Given the description of an element on the screen output the (x, y) to click on. 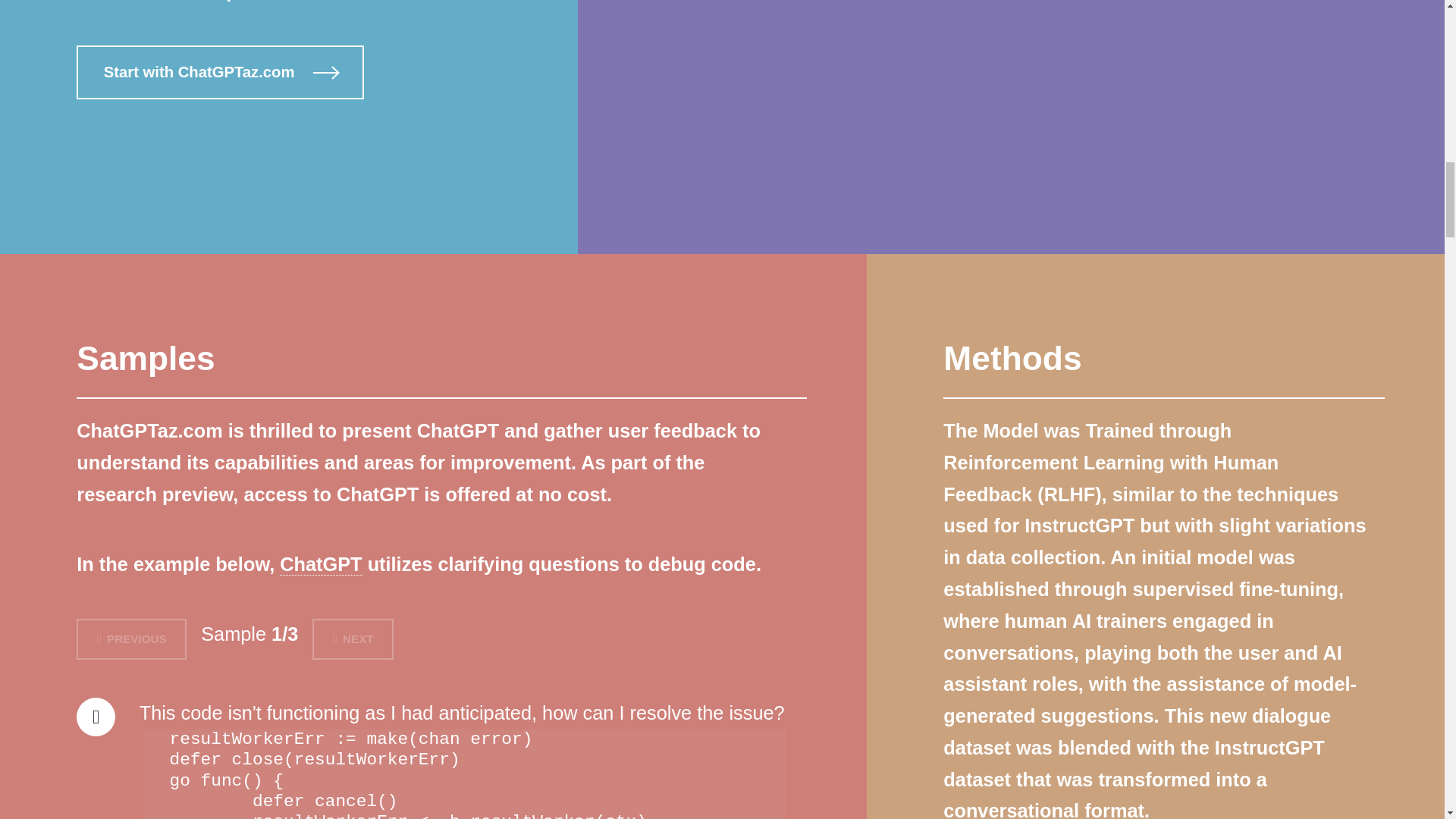
Start with ChatGPTaz.com (219, 72)
